Given the description of an element on the screen output the (x, y) to click on. 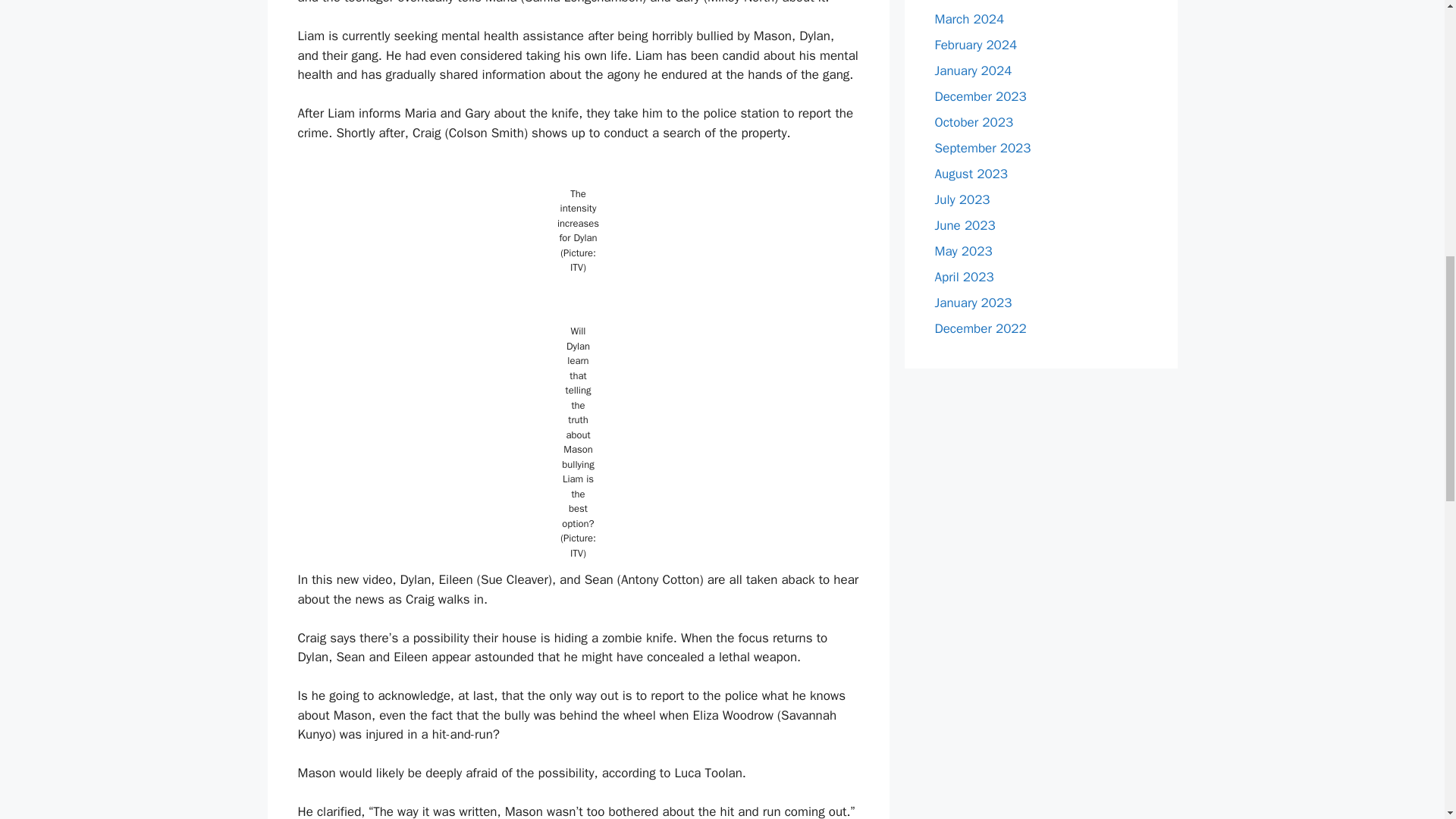
October 2023 (973, 121)
August 2023 (970, 172)
February 2024 (975, 44)
December 2023 (980, 95)
September 2023 (982, 147)
April 2024 (963, 0)
March 2024 (969, 18)
January 2024 (972, 69)
